Given the description of an element on the screen output the (x, y) to click on. 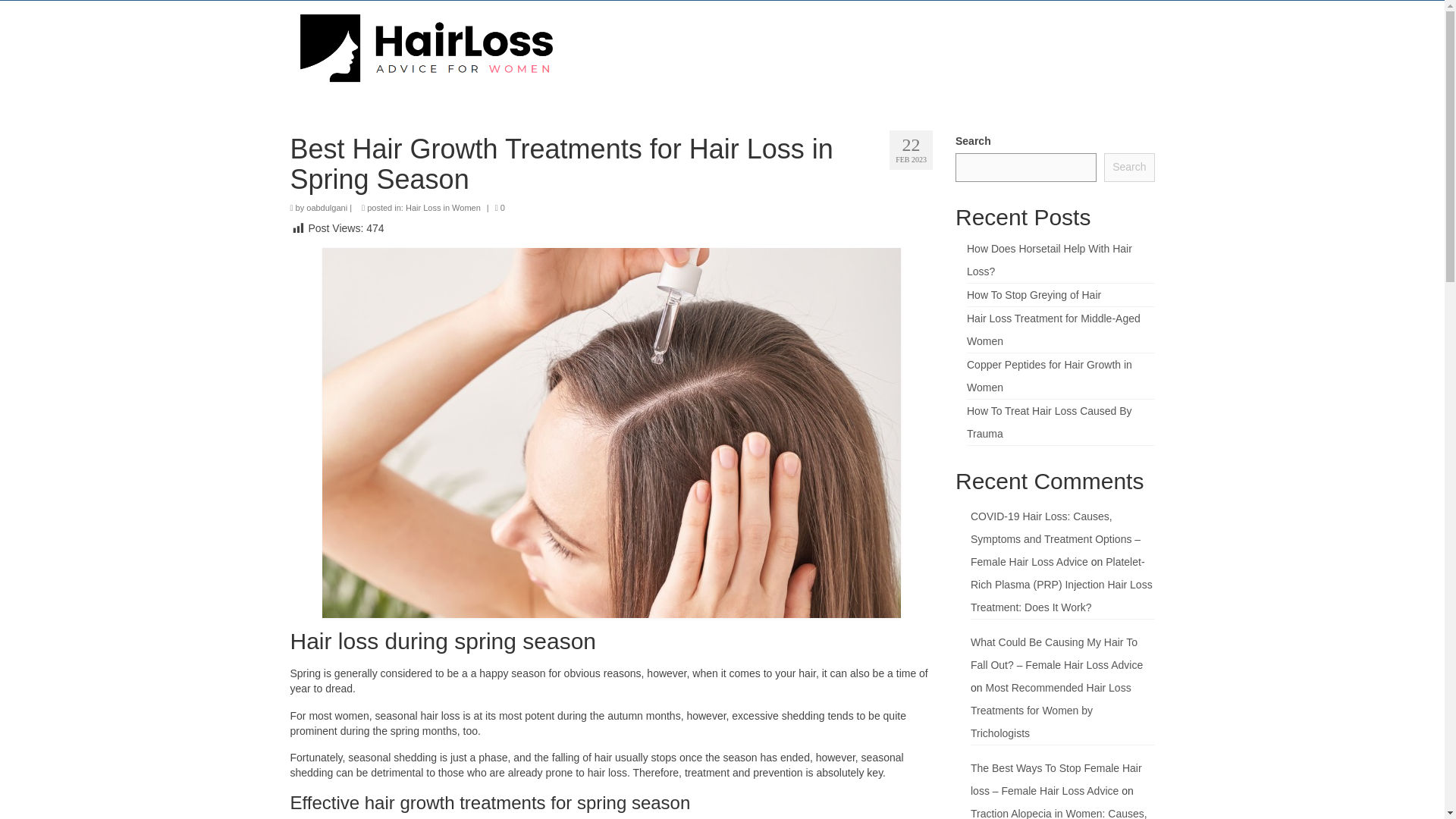
Hair Loss Treatment for Middle-Aged Women (1053, 329)
Search (1128, 167)
How Does Horsetail Help With Hair Loss? (1049, 259)
How To Stop Greying of Hair (1033, 295)
Copper Peptides for Hair Growth in Women (1049, 375)
oabdulgani (326, 207)
Hair Loss in Women (443, 207)
How To Treat Hair Loss Caused By Trauma (1049, 421)
